Given the description of an element on the screen output the (x, y) to click on. 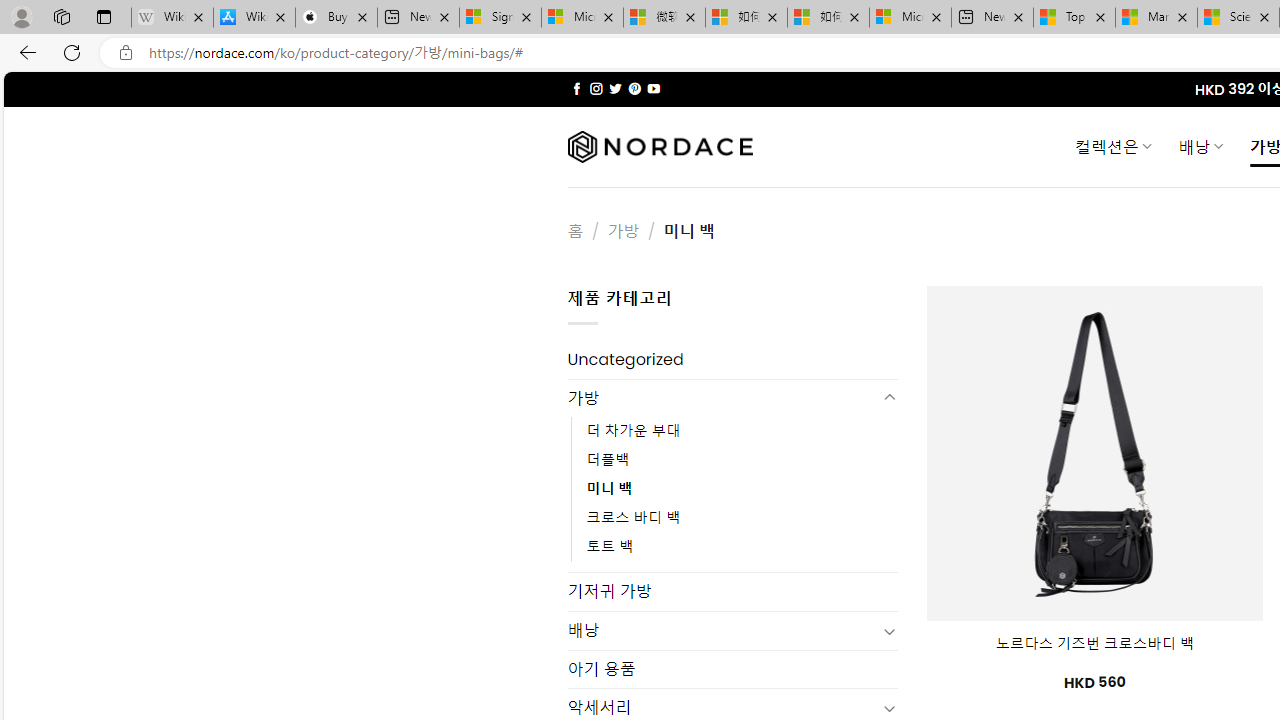
Follow on Pinterest (634, 88)
Follow on YouTube (653, 88)
